Given the description of an element on the screen output the (x, y) to click on. 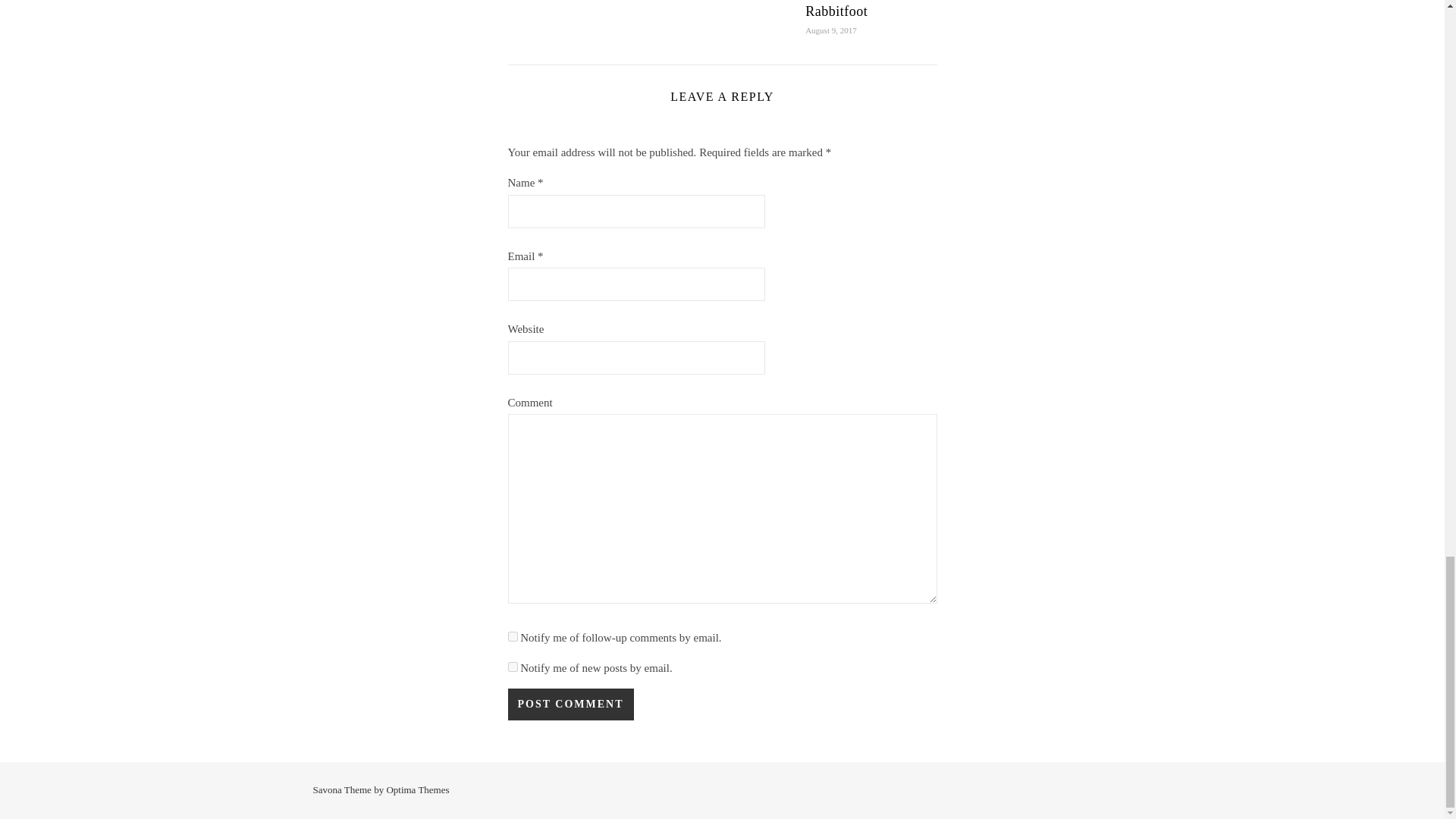
subscribe (513, 636)
Post Comment (570, 704)
subscribe (513, 666)
